Given the description of an element on the screen output the (x, y) to click on. 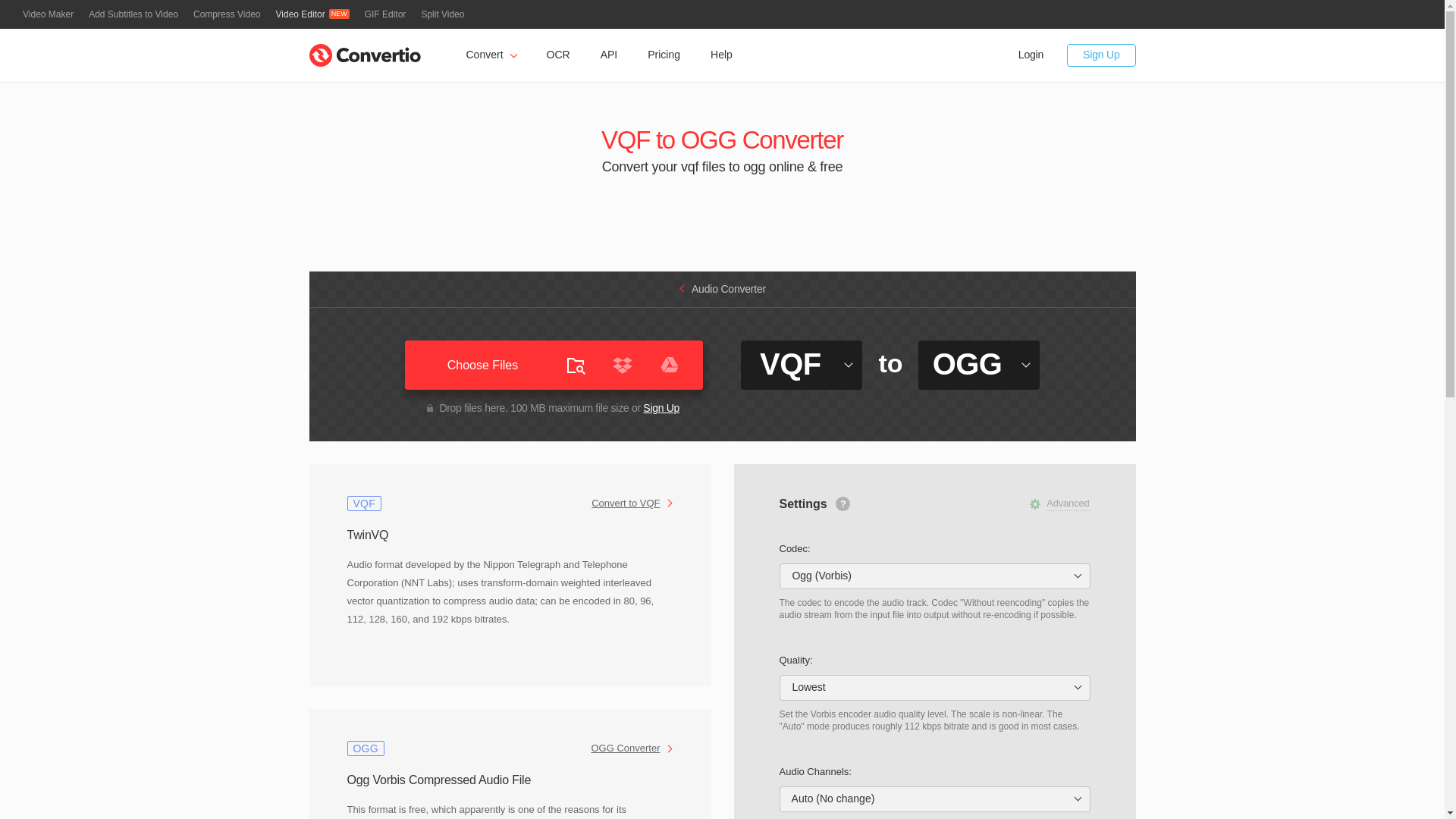
Sign Up (661, 408)
OCR (558, 54)
Login (1031, 55)
Audio Converter (721, 288)
API (609, 54)
Compress Video (226, 14)
Video Editor (312, 14)
Split Video (442, 14)
Convert (490, 54)
GIF Editor (385, 14)
